Given the description of an element on the screen output the (x, y) to click on. 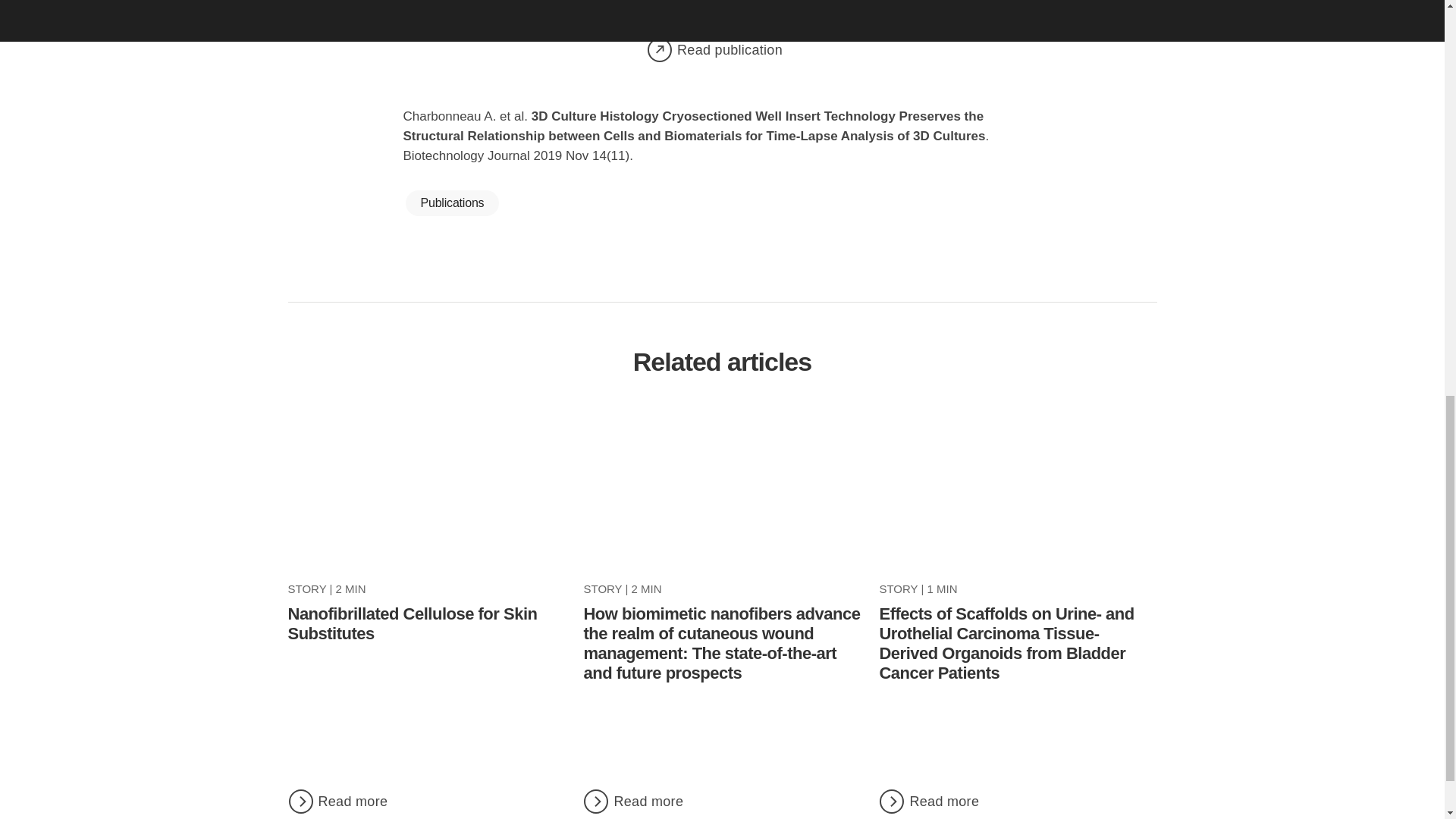
Read publication (721, 49)
